Given the description of an element on the screen output the (x, y) to click on. 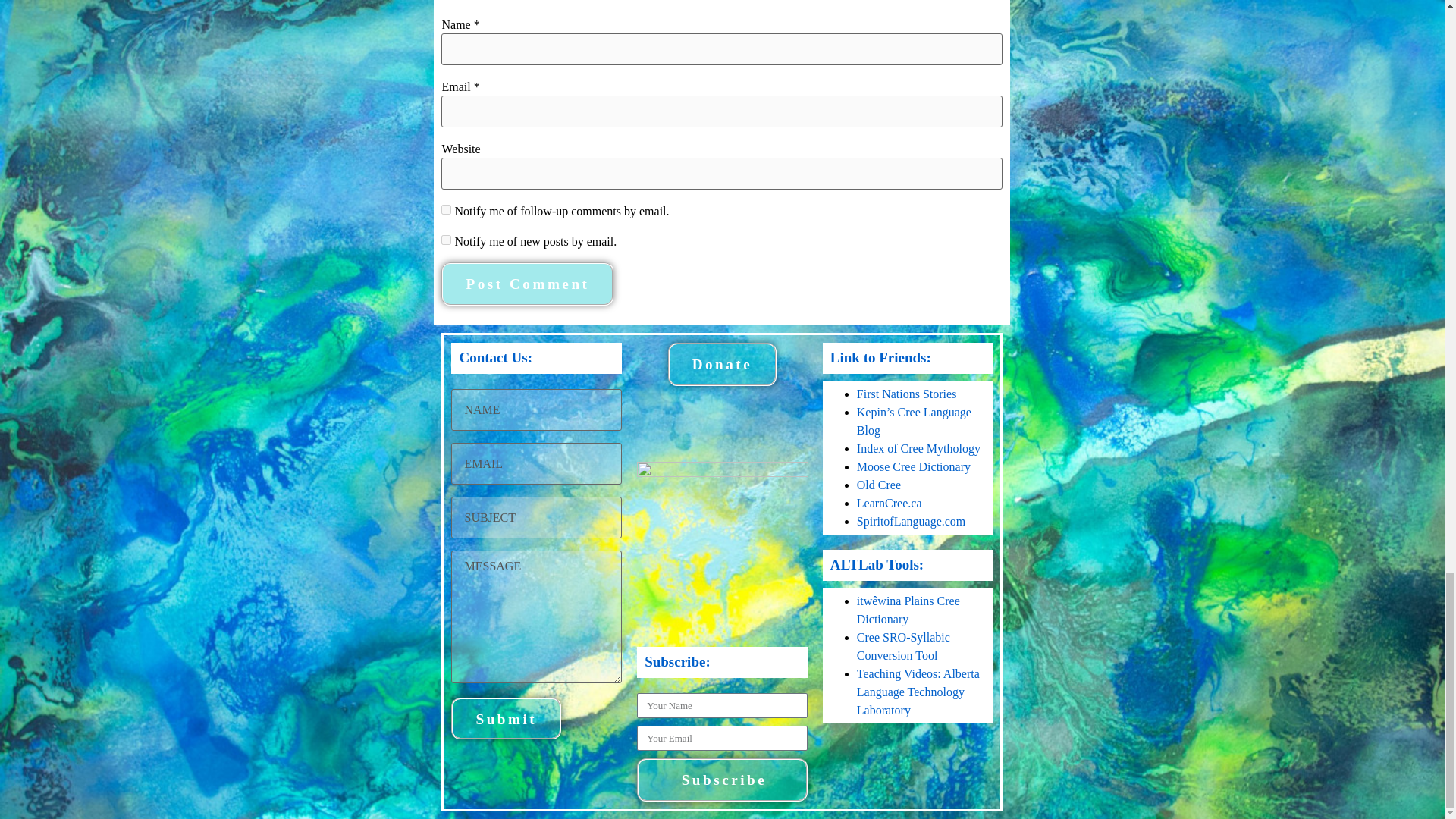
EMAIL (536, 463)
SUBJECT (536, 517)
subscribe (446, 239)
NAME (536, 409)
Post Comment (526, 283)
subscribe (446, 209)
Submit (505, 718)
